Given the description of an element on the screen output the (x, y) to click on. 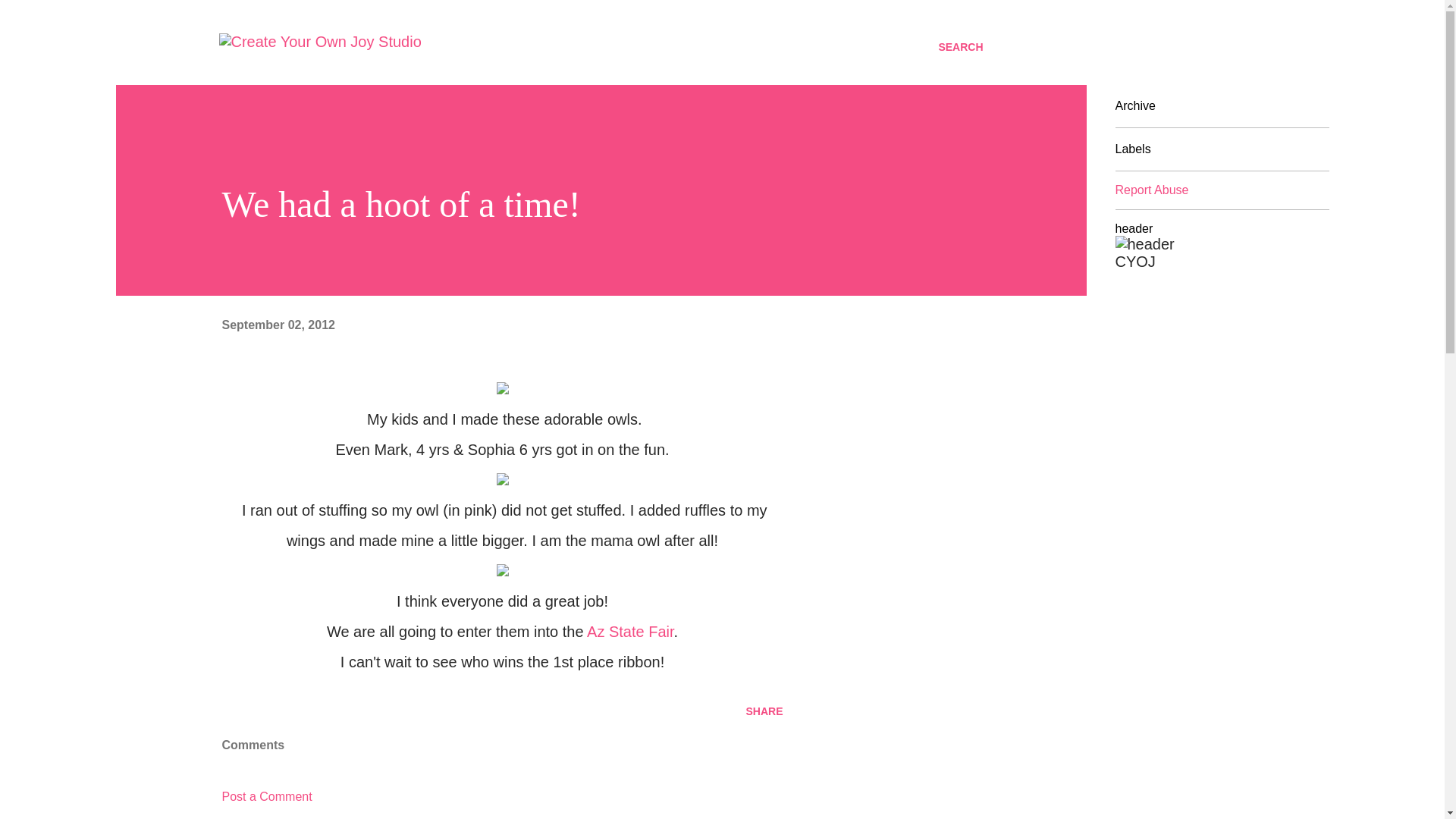
SHARE (764, 711)
September 02, 2012 (277, 324)
Az State Fair (630, 631)
permanent link (277, 324)
Post a Comment (266, 796)
SEARCH (959, 46)
